Given the description of an element on the screen output the (x, y) to click on. 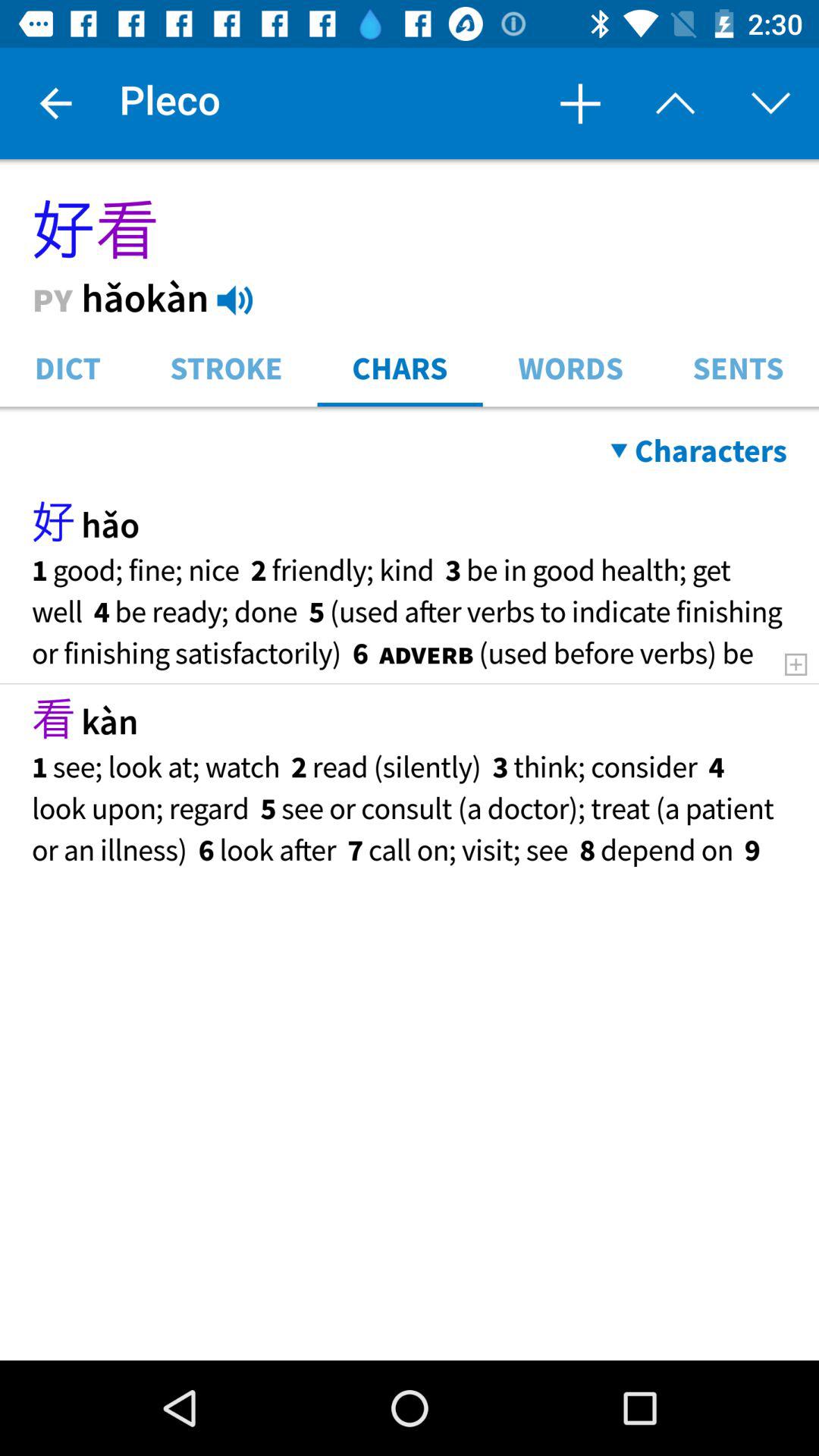
turn on icon next to the chars item (570, 366)
